Given the description of an element on the screen output the (x, y) to click on. 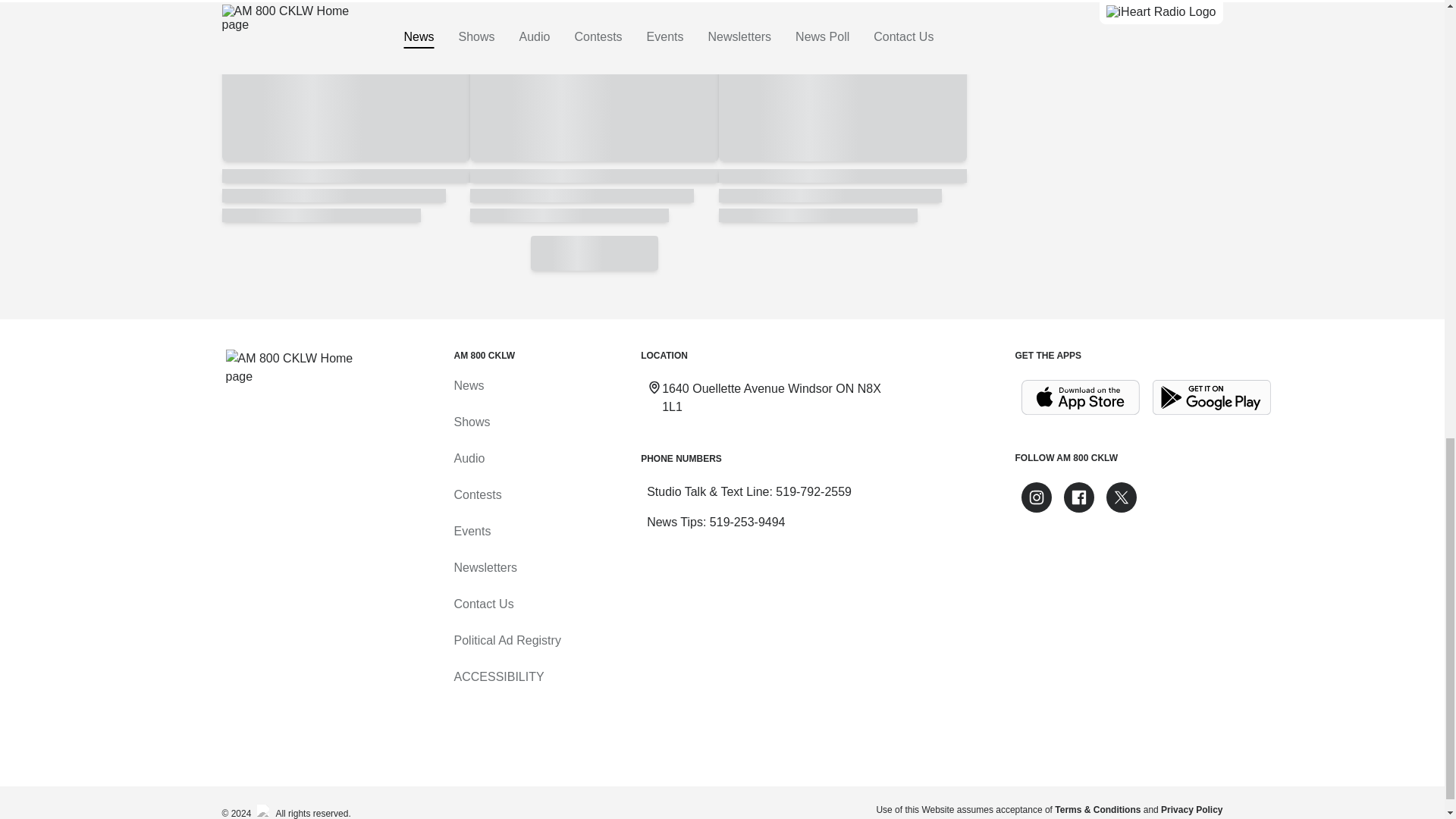
Contact Us (482, 603)
Events (471, 530)
Shows (470, 421)
Privacy Policy (1191, 809)
519-792-2559 (813, 491)
ACCESSIBILITY (497, 676)
Privacy Policy (1191, 809)
Download on the App Store (1080, 397)
Newsletters (484, 567)
News (467, 385)
